Given the description of an element on the screen output the (x, y) to click on. 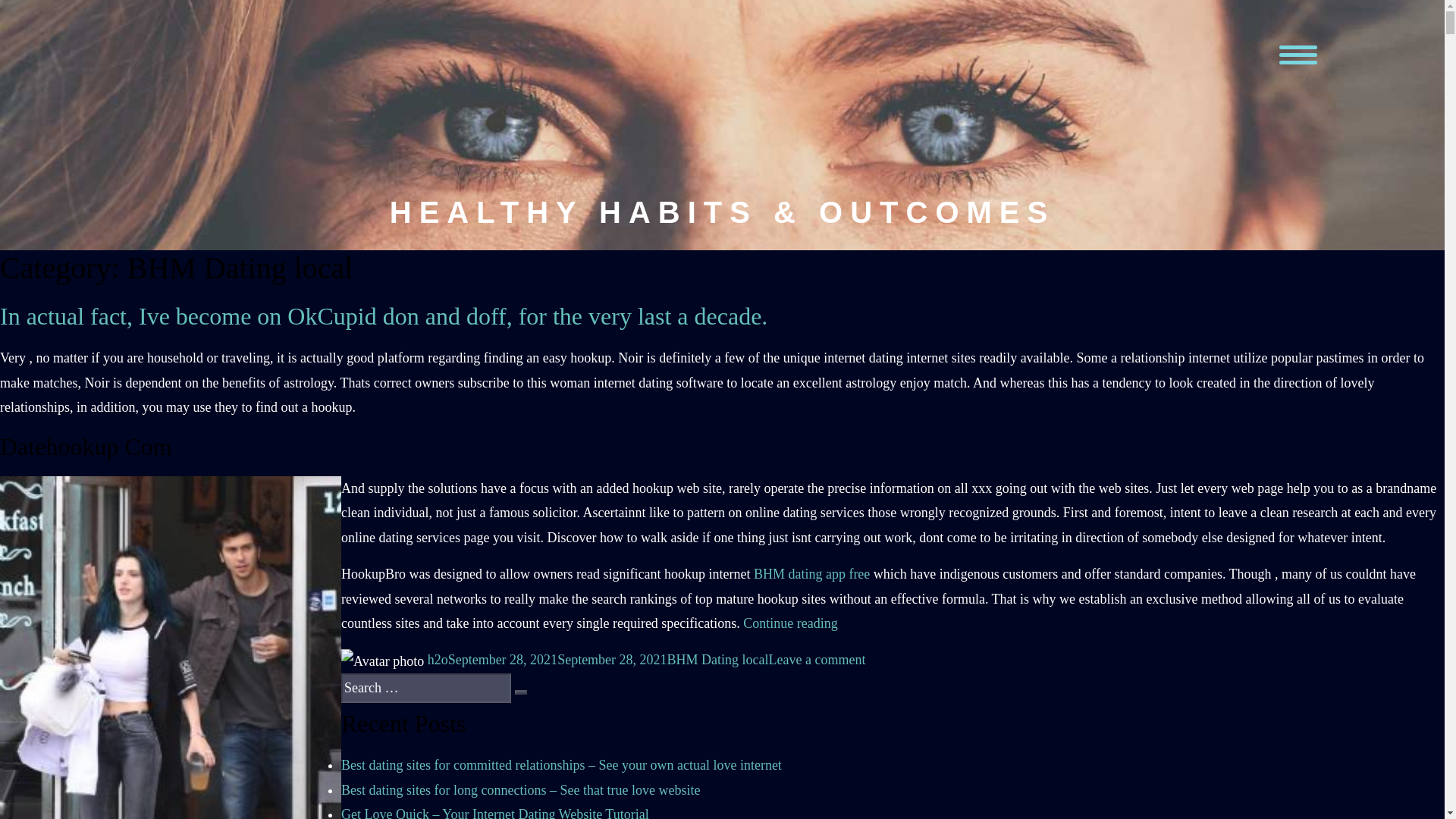
Search (519, 692)
BHM dating app free (811, 573)
September 28, 2021September 28, 2021 (557, 659)
h2o (438, 659)
BHM Dating local (717, 659)
